Given the description of an element on the screen output the (x, y) to click on. 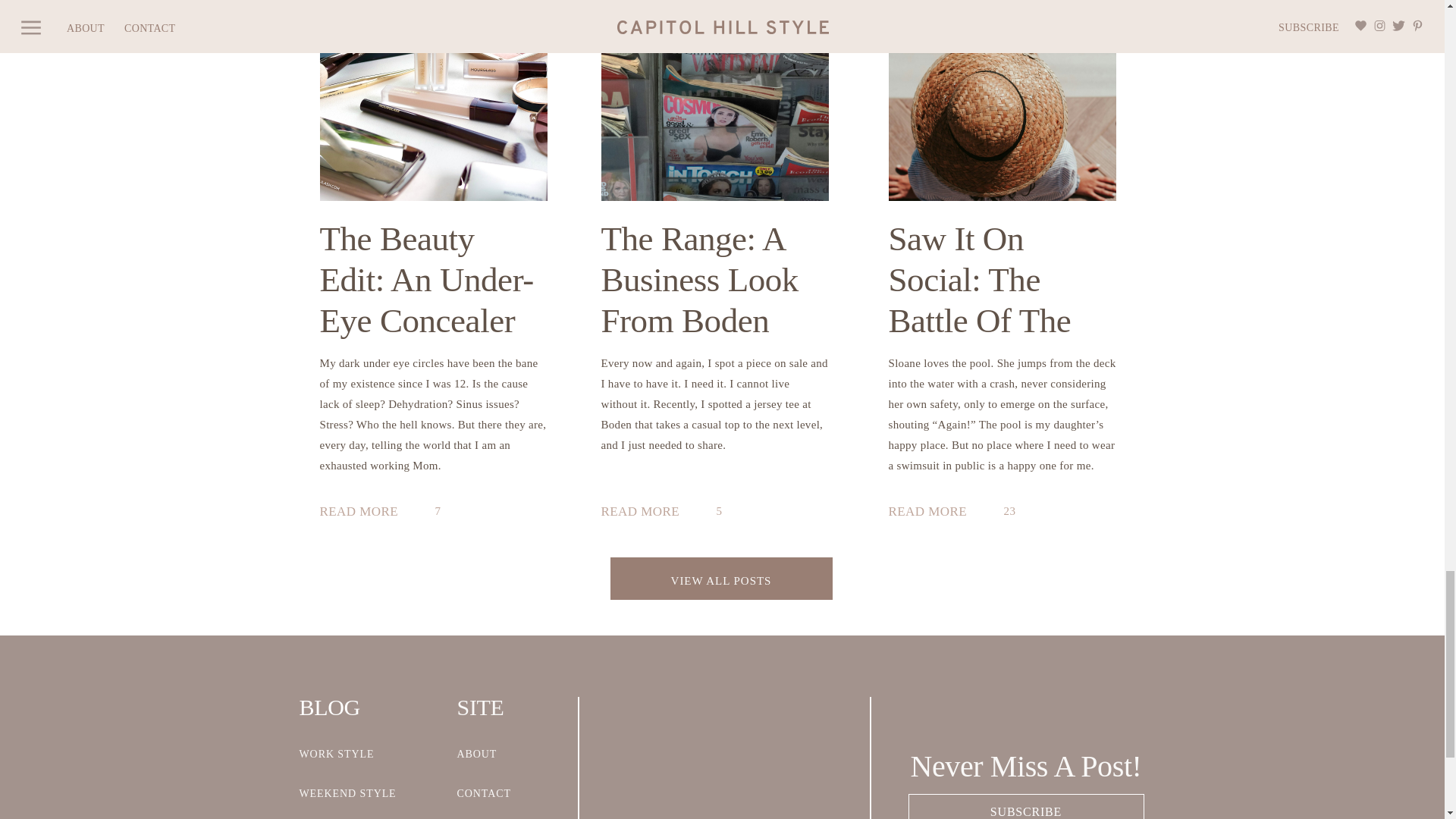
The Beauty Edit: An Under-Eye Concealer That Actually Works (366, 512)
The Beauty Edit: An Under-Eye Concealer That Actually Works (433, 100)
Saw It On Social: The Battle of the Spendy Swimsuits (1002, 100)
The Range: A Business Look from Boden (646, 512)
Saw It On Social: The Battle of the Spendy Swimsuits (933, 512)
The Range: A Business Look from Boden (713, 100)
